Given the description of an element on the screen output the (x, y) to click on. 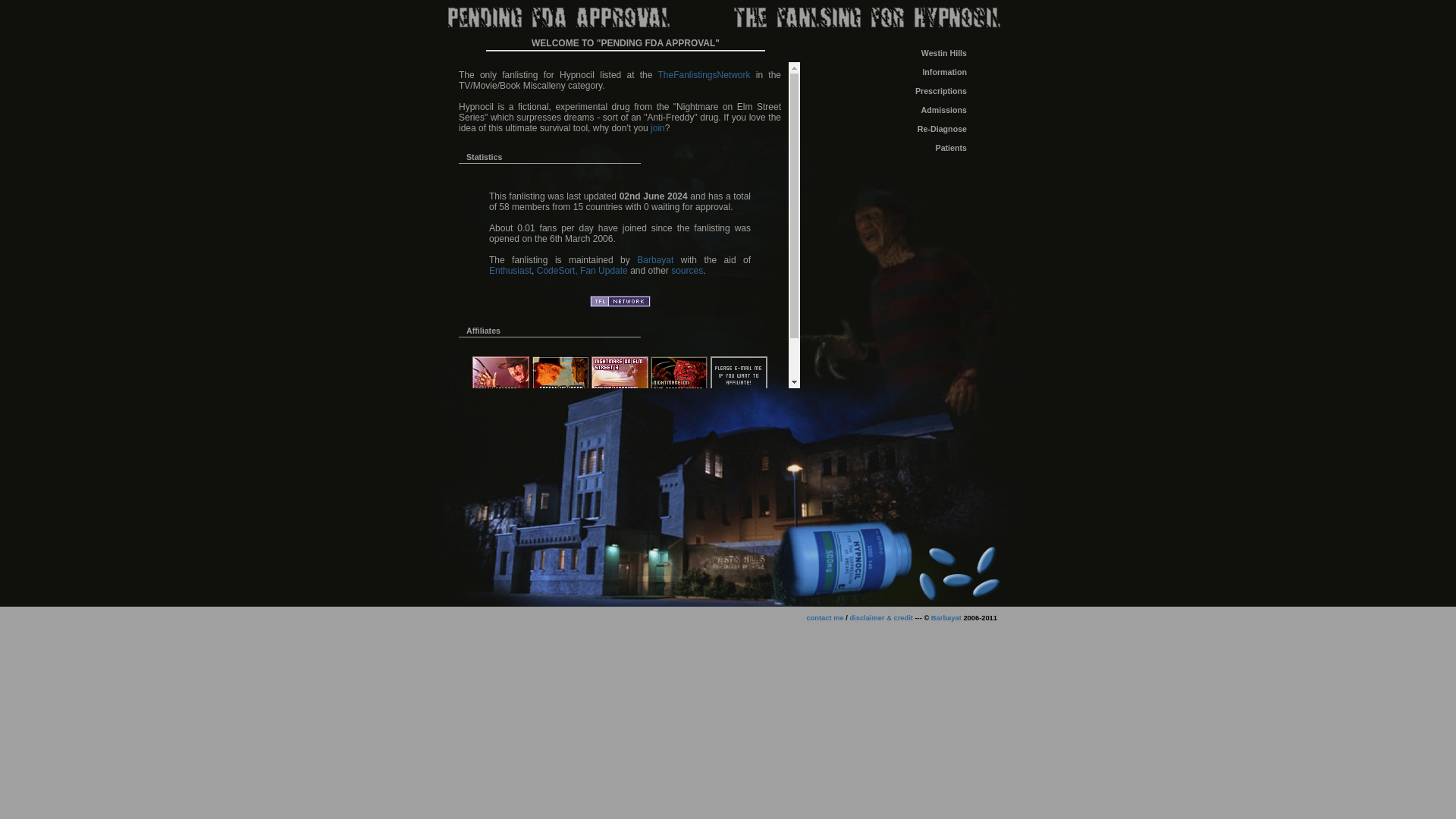
join (657, 127)
Patients (909, 147)
Westin Hills (909, 52)
TheFanlistingsNetwork (619, 301)
Barbayat (945, 617)
TheFanlistingsNetwork (703, 74)
sources (687, 270)
view the hypnocil fans (909, 147)
join this fanlisting (909, 109)
Information (909, 71)
update your memberinfo (909, 128)
Enthusiast (510, 270)
about fanlistings etc (909, 71)
CodeSort, Fan Update (582, 270)
Admissions (909, 109)
